Given the description of an element on the screen output the (x, y) to click on. 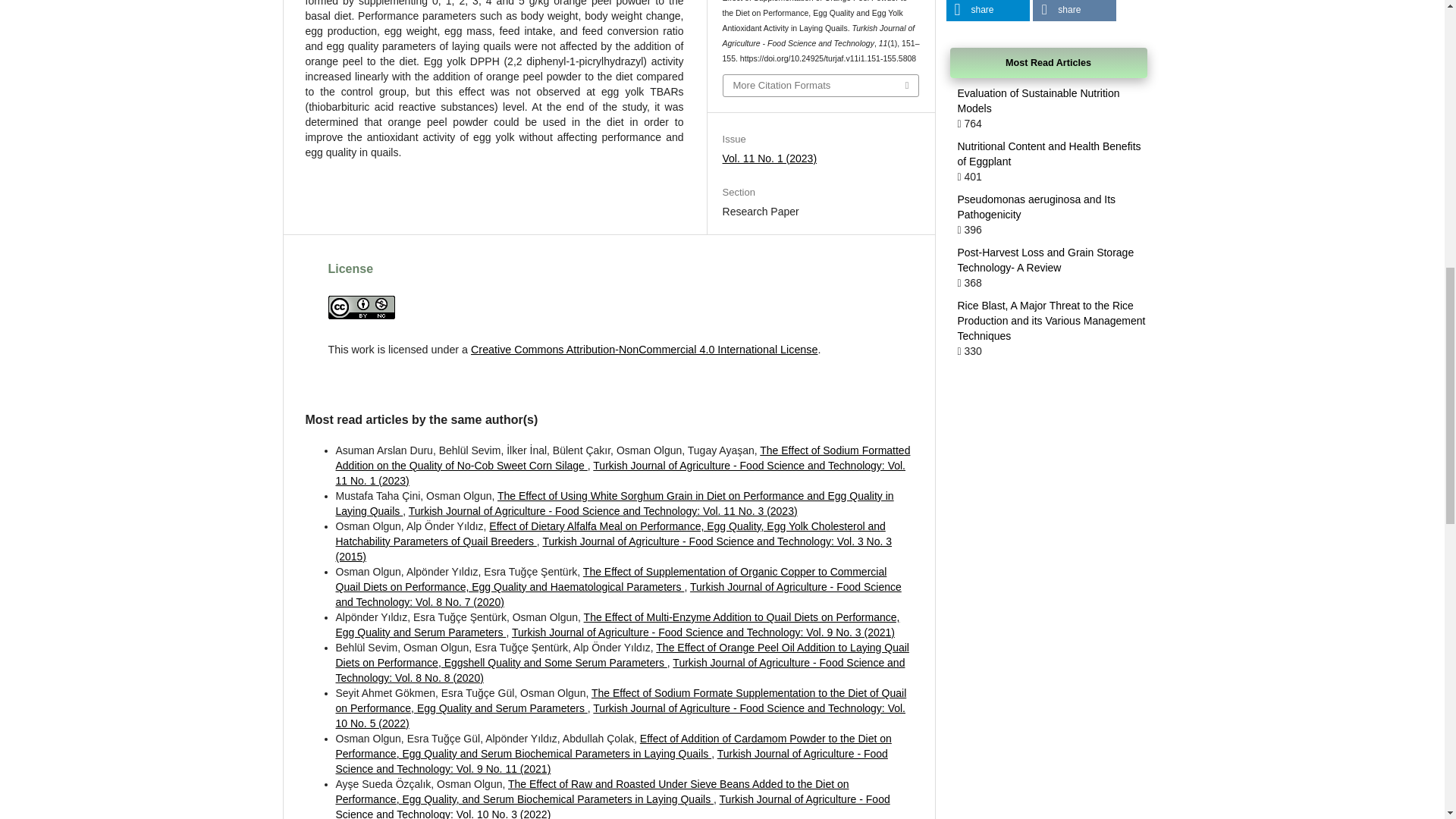
Share on Telegram (987, 10)
More Citation Formats (820, 85)
Share on VK (1074, 10)
